Given the description of an element on the screen output the (x, y) to click on. 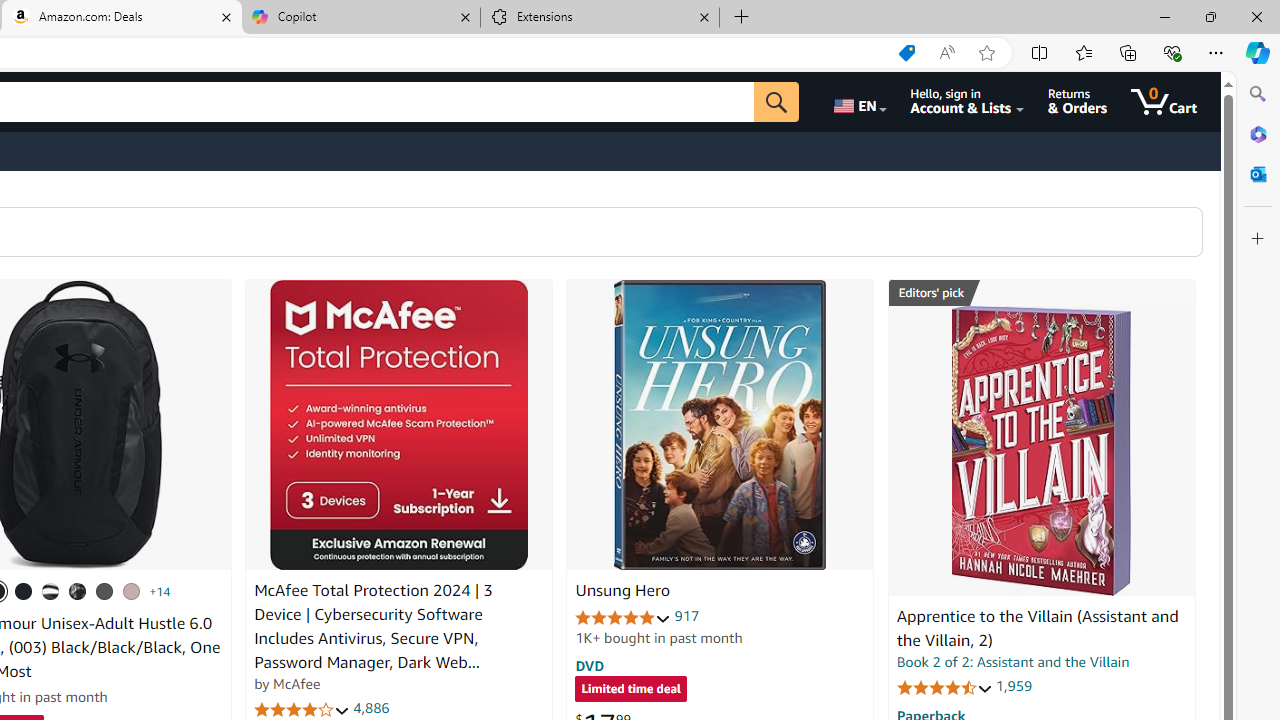
Copilot (360, 17)
Book 2 of 2: Assistant and the Villain (1013, 662)
Choose a language for shopping. (858, 101)
(005) Black Full Heather / Black / Metallic Gold (104, 591)
(015) Tetra Gray / Tetra Gray / Gray Matter (131, 591)
917 (687, 616)
0 items in cart (1163, 101)
Apprentice to the Villain (Assistant and the Villain, 2) (1041, 451)
(004) Black / Black / Metallic Gold (78, 591)
1,959 (1013, 686)
